Given the description of an element on the screen output the (x, y) to click on. 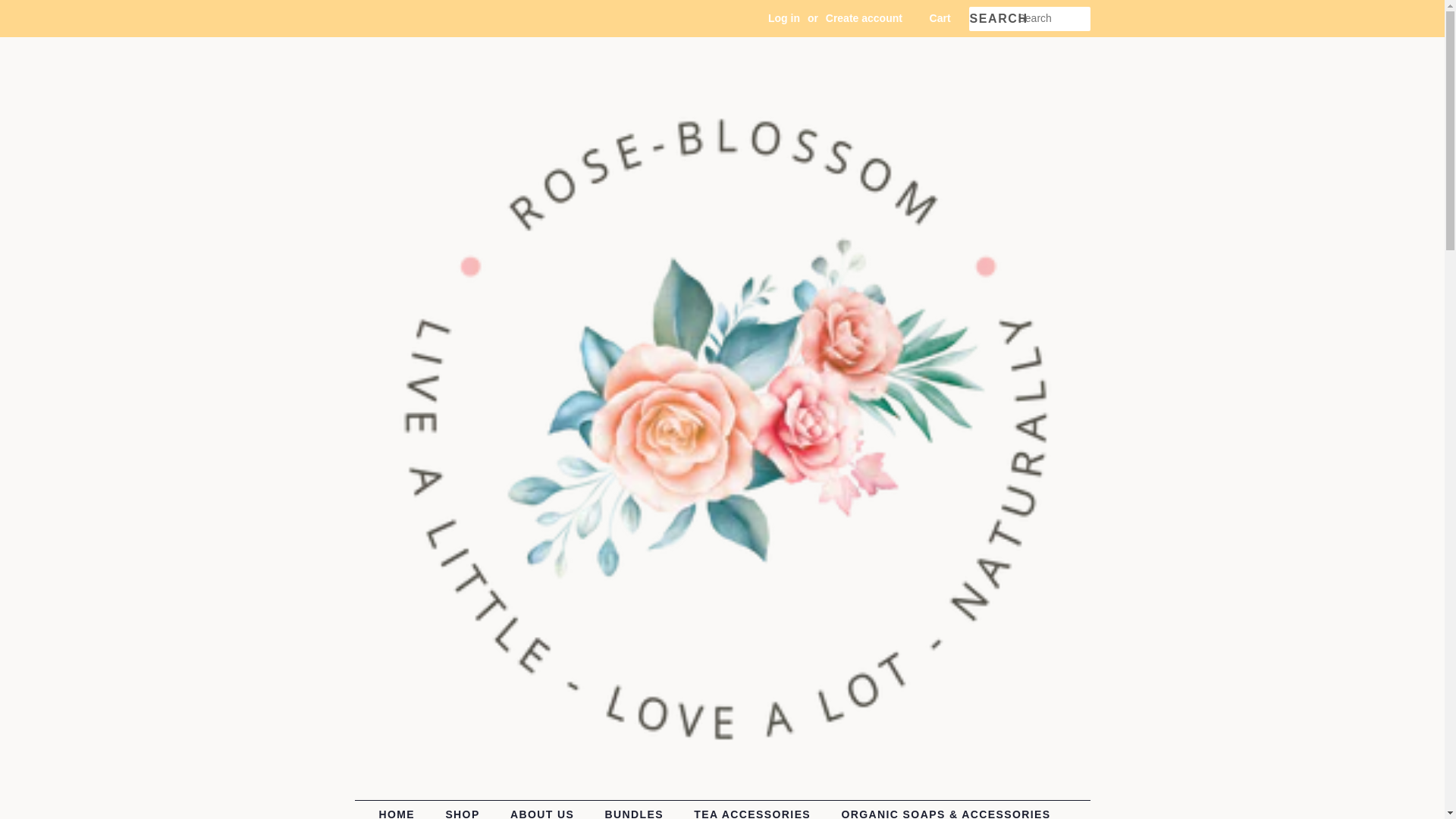
ABOUT US (544, 809)
BUNDLES (636, 809)
Log in (783, 18)
TEA ACCESSORIES (753, 809)
HOME (403, 809)
SEARCH (993, 18)
Create account (863, 18)
Cart (940, 18)
SHOP (464, 809)
